Given the description of an element on the screen output the (x, y) to click on. 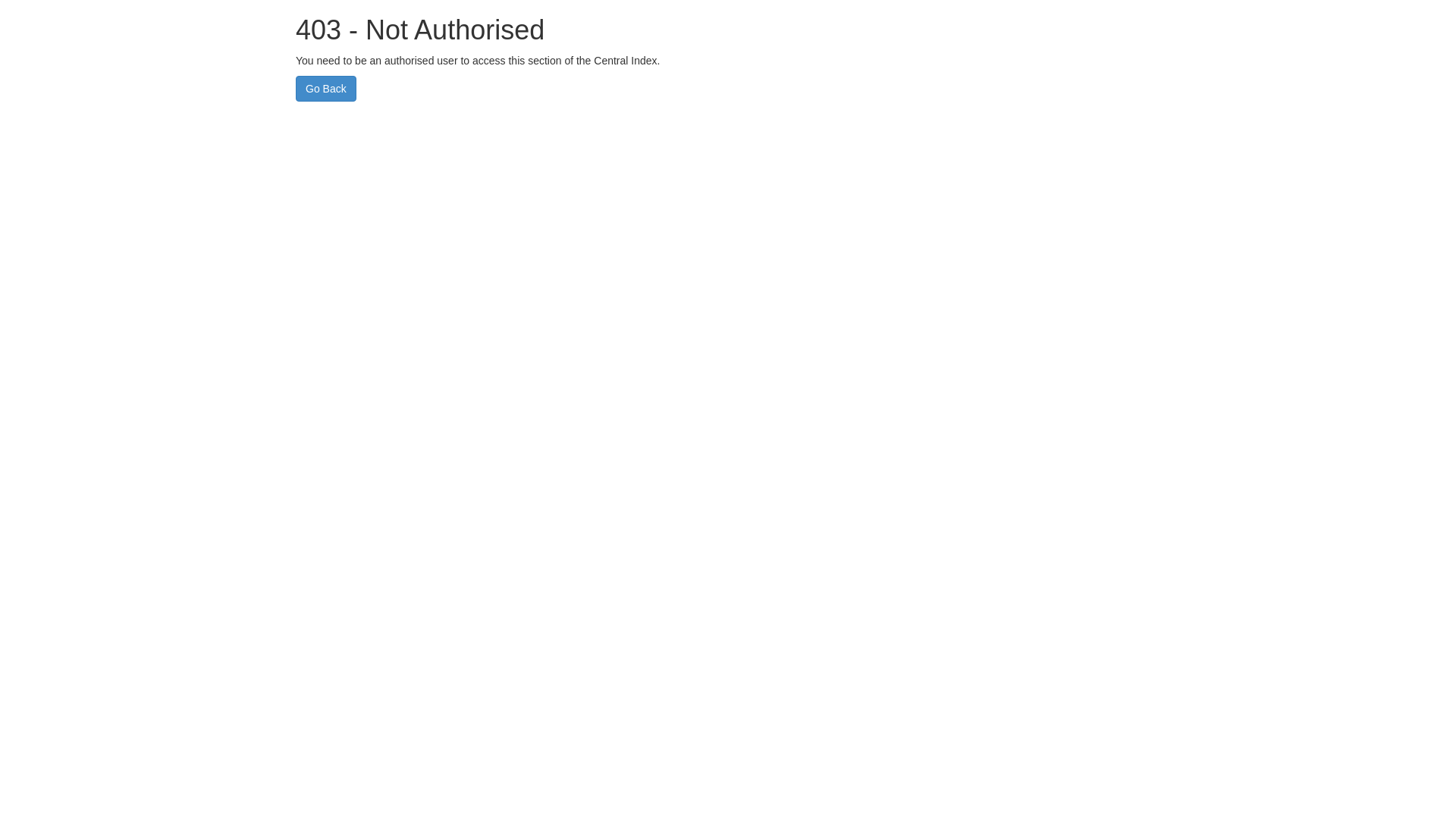
Go Back Element type: text (325, 88)
